Given the description of an element on the screen output the (x, y) to click on. 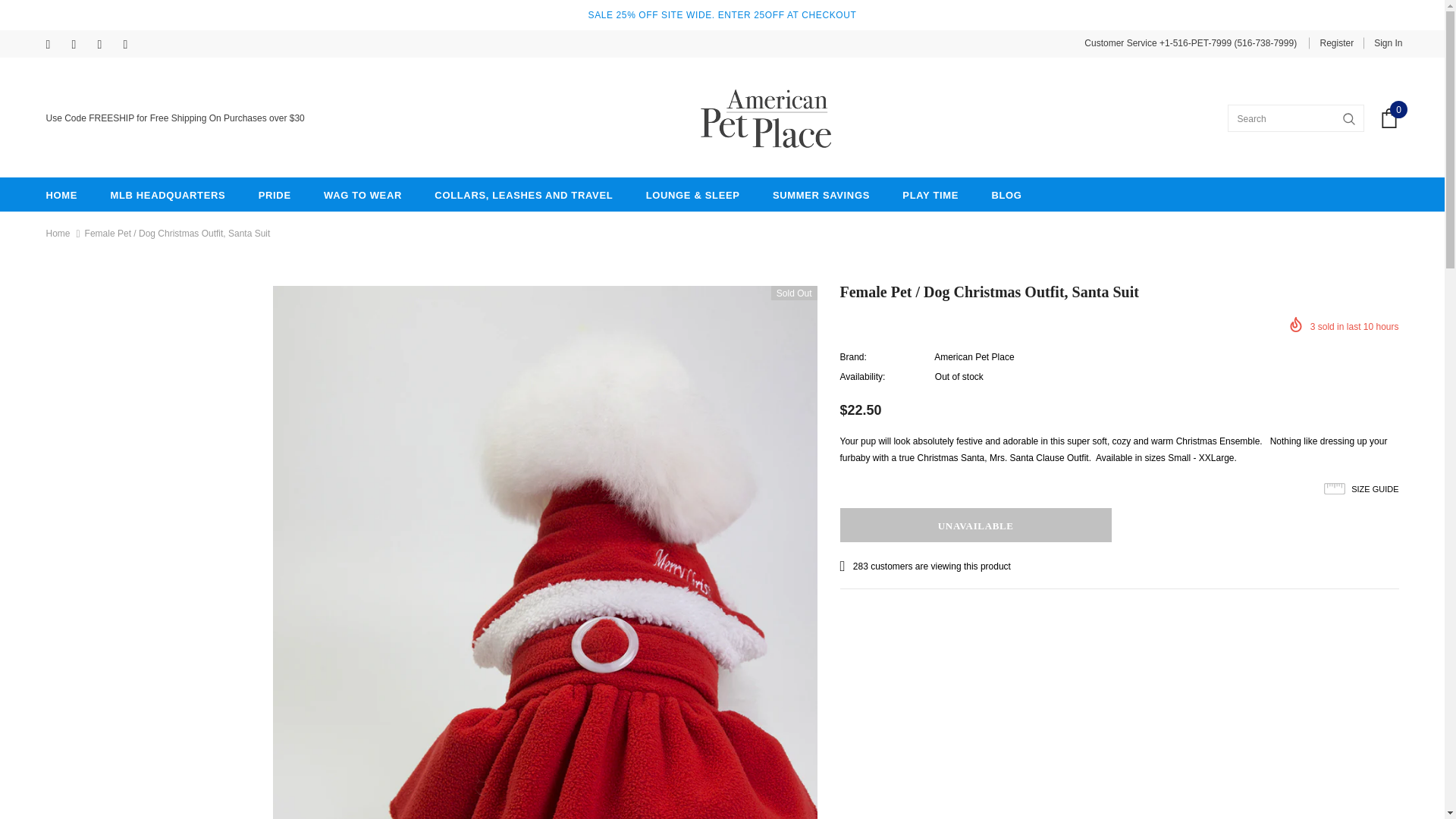
MLB HEADQUARTERS (167, 194)
Facebook (54, 45)
Instagram (80, 45)
WAG TO WEAR (362, 194)
YouTube (131, 45)
Pinterest (106, 45)
Sign In (1382, 43)
PRIDE (275, 194)
Unavailable (976, 524)
0 (1388, 117)
